Given the description of an element on the screen output the (x, y) to click on. 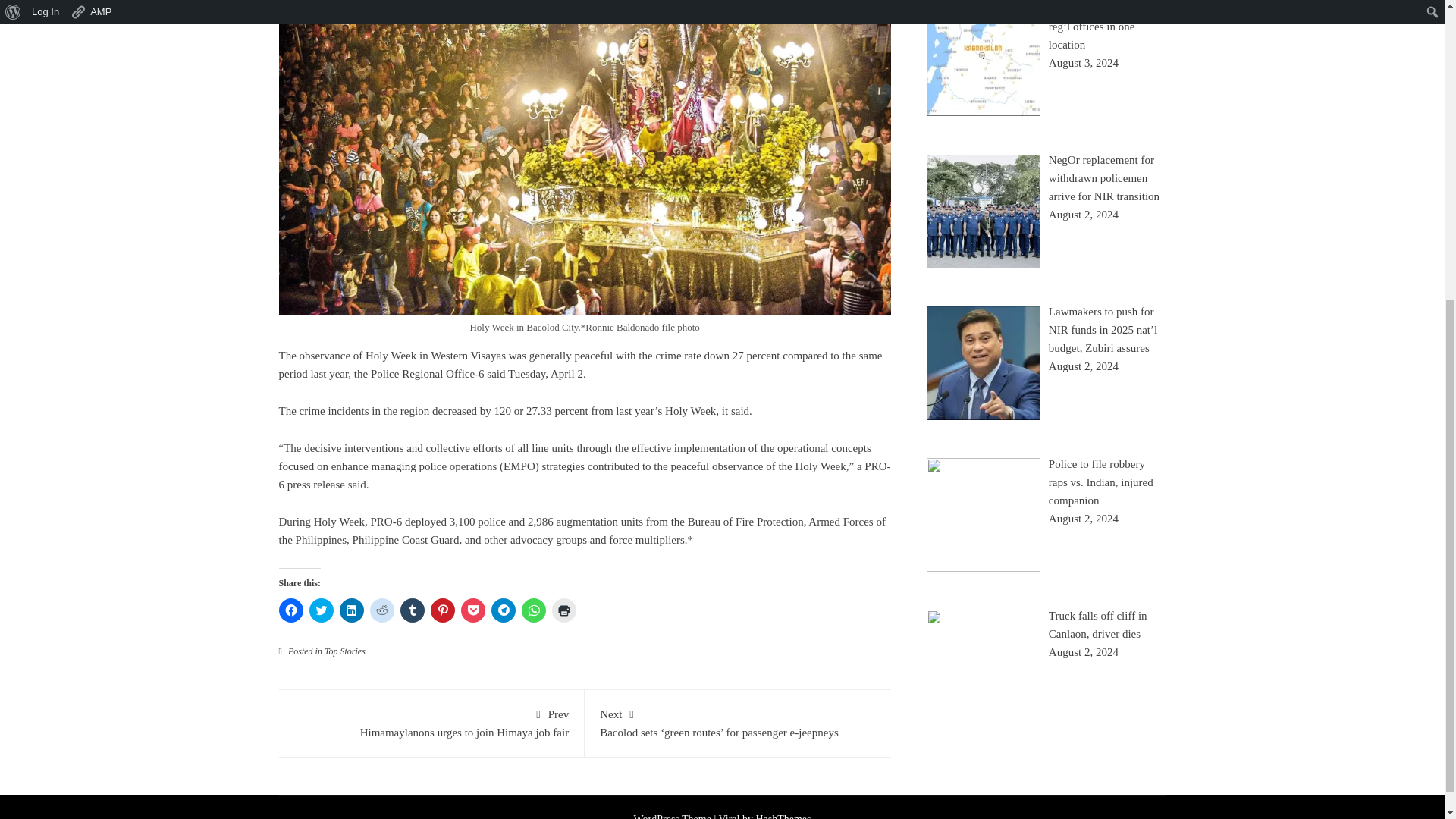
Click to print (563, 610)
Click to share on Tumblr (412, 610)
Click to share on Twitter (320, 610)
Click to share on WhatsApp (533, 610)
Click to share on Pinterest (442, 610)
Click to share on Pocket (472, 610)
Click to share on Facebook (290, 610)
Click to share on LinkedIn (351, 610)
Click to share on Reddit (381, 610)
Click to share on Telegram (503, 610)
